Given the description of an element on the screen output the (x, y) to click on. 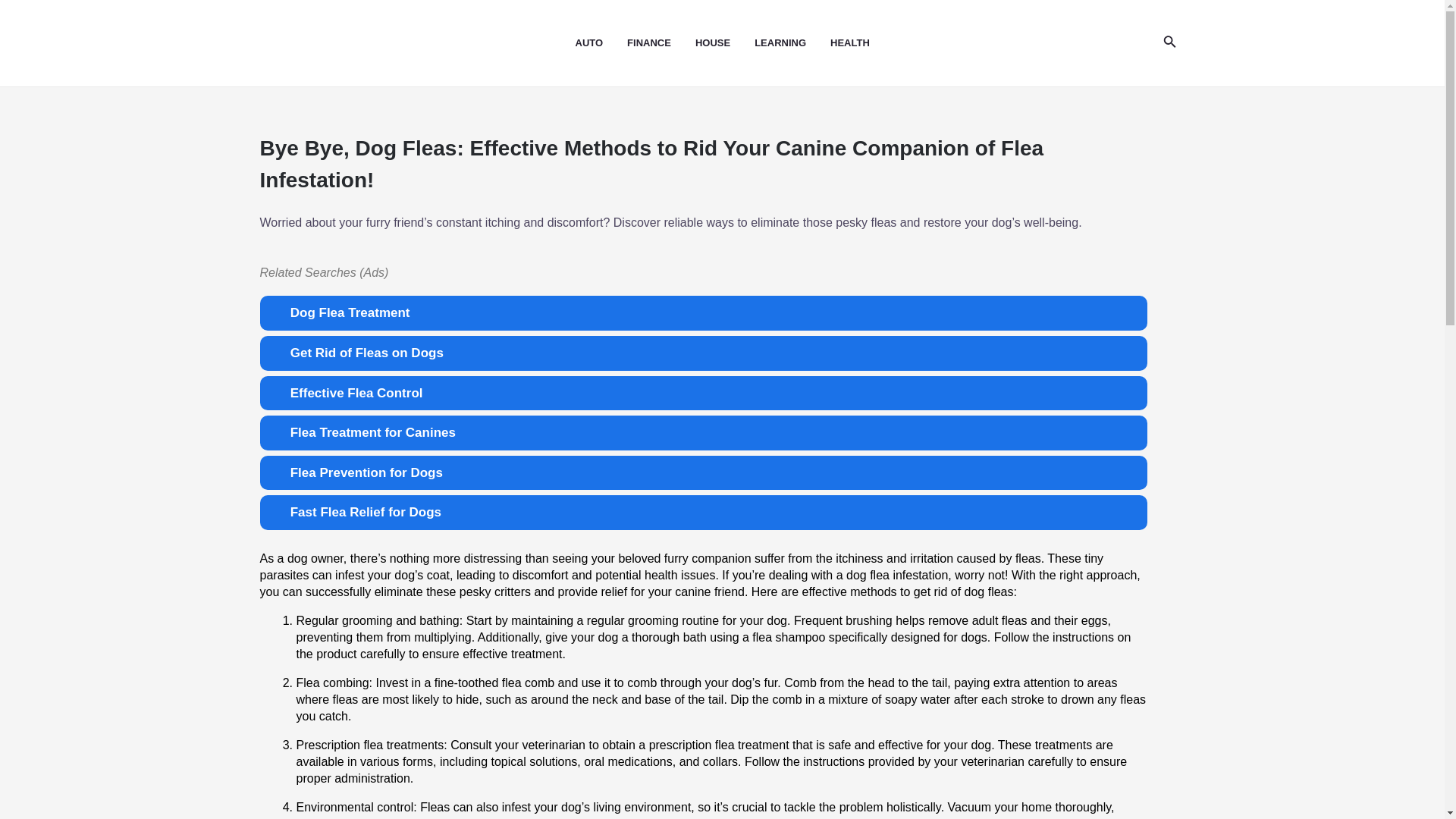
HEALTH (861, 43)
Flea Prevention for Dogs (703, 472)
FINANCE (661, 43)
Effective Flea Control (703, 393)
HOUSE (724, 43)
Dog Flea Treatment (703, 312)
Fast Flea Relief for Dogs (703, 512)
AUTO (601, 43)
Get Rid of Fleas on Dogs (703, 353)
LEARNING (791, 43)
Flea Treatment for Canines (703, 432)
